Given the description of an element on the screen output the (x, y) to click on. 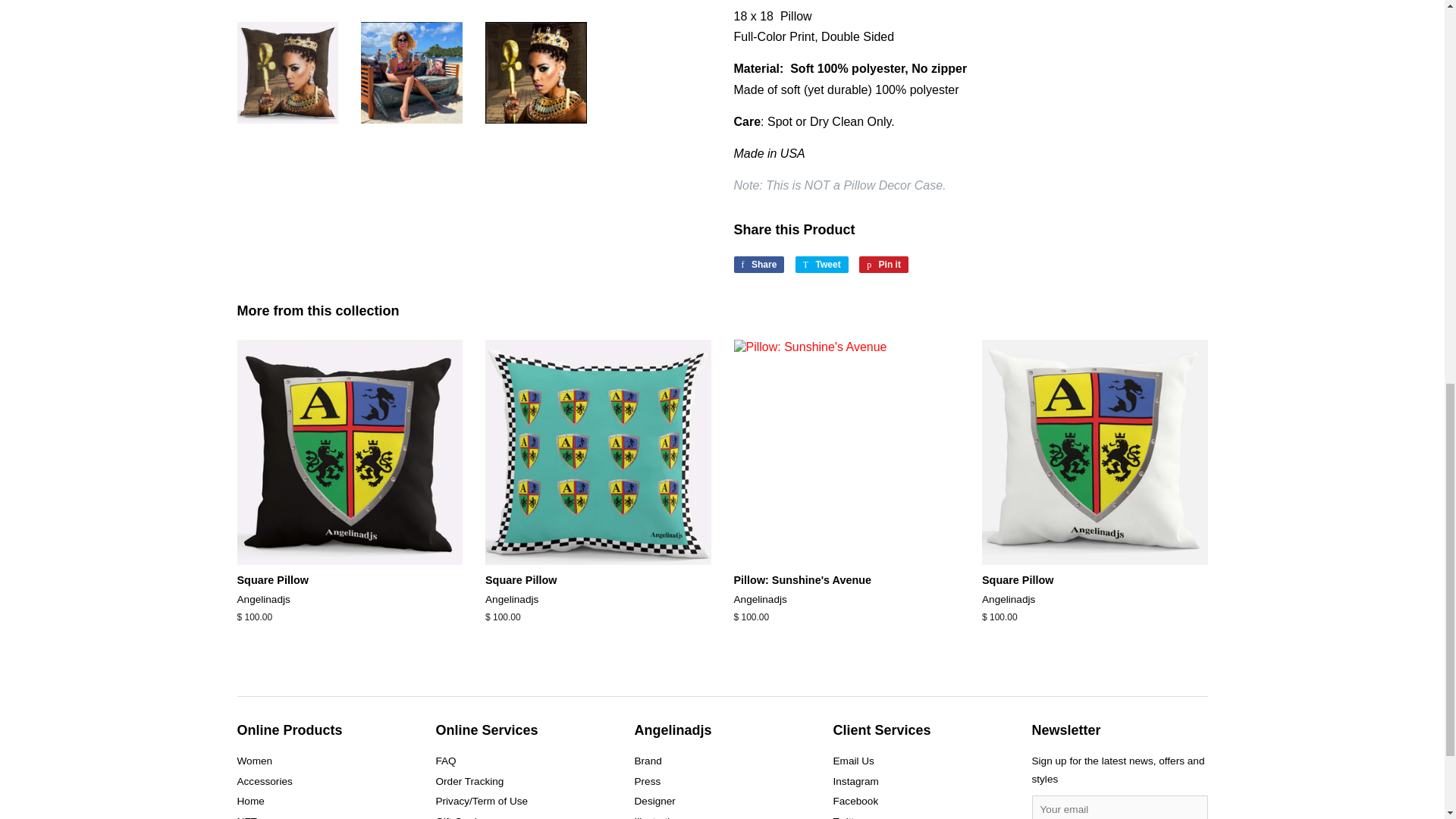
Tweet on Twitter (821, 264)
Share on Facebook (758, 264)
Pin on Pinterest (883, 264)
